Given the description of an element on the screen output the (x, y) to click on. 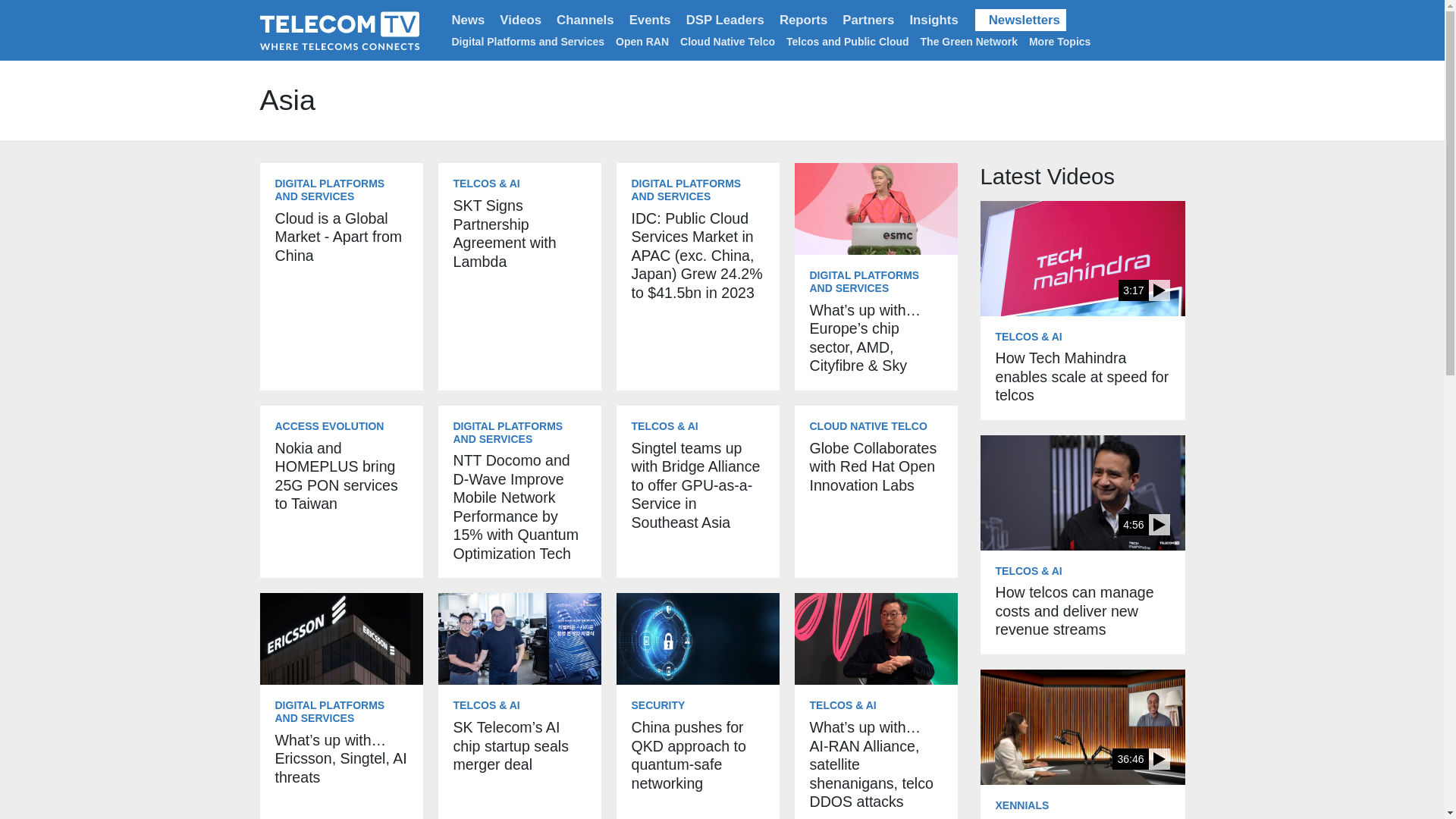
Telcos and Public Cloud (847, 41)
Open RAN (641, 41)
Newsletters (1020, 20)
Channels (585, 20)
Digital Platforms and Services (528, 41)
Events (650, 20)
Cloud Native Telco (726, 41)
Reports (802, 20)
Videos (520, 20)
